Given the description of an element on the screen output the (x, y) to click on. 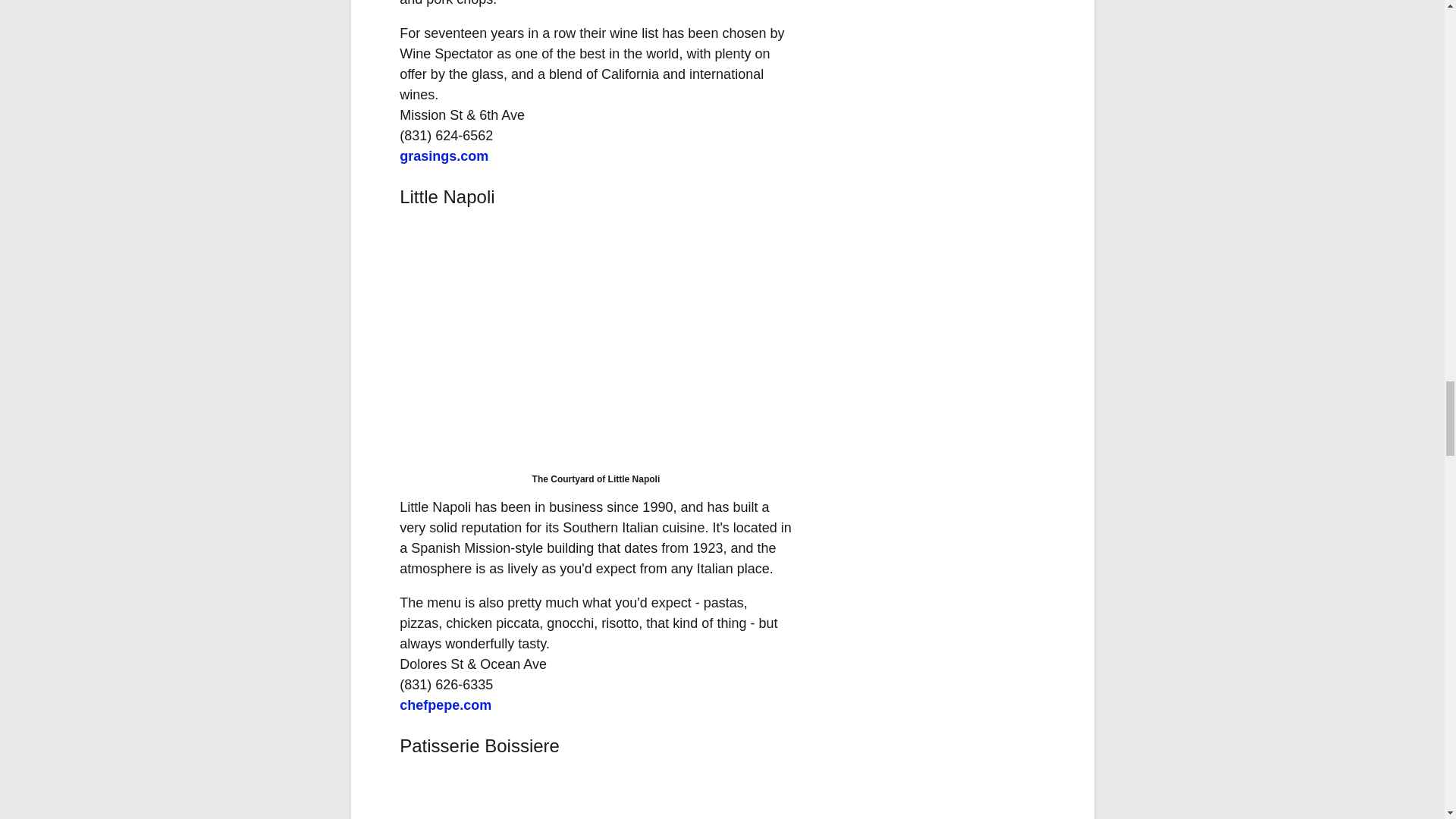
Patisseries at Patisserie Boissiere in Carmel (595, 794)
chefpepe.com (445, 704)
The courtyard of the Little Napoli restaurant in Carmel (595, 343)
grasings.com (442, 155)
